Given the description of an element on the screen output the (x, y) to click on. 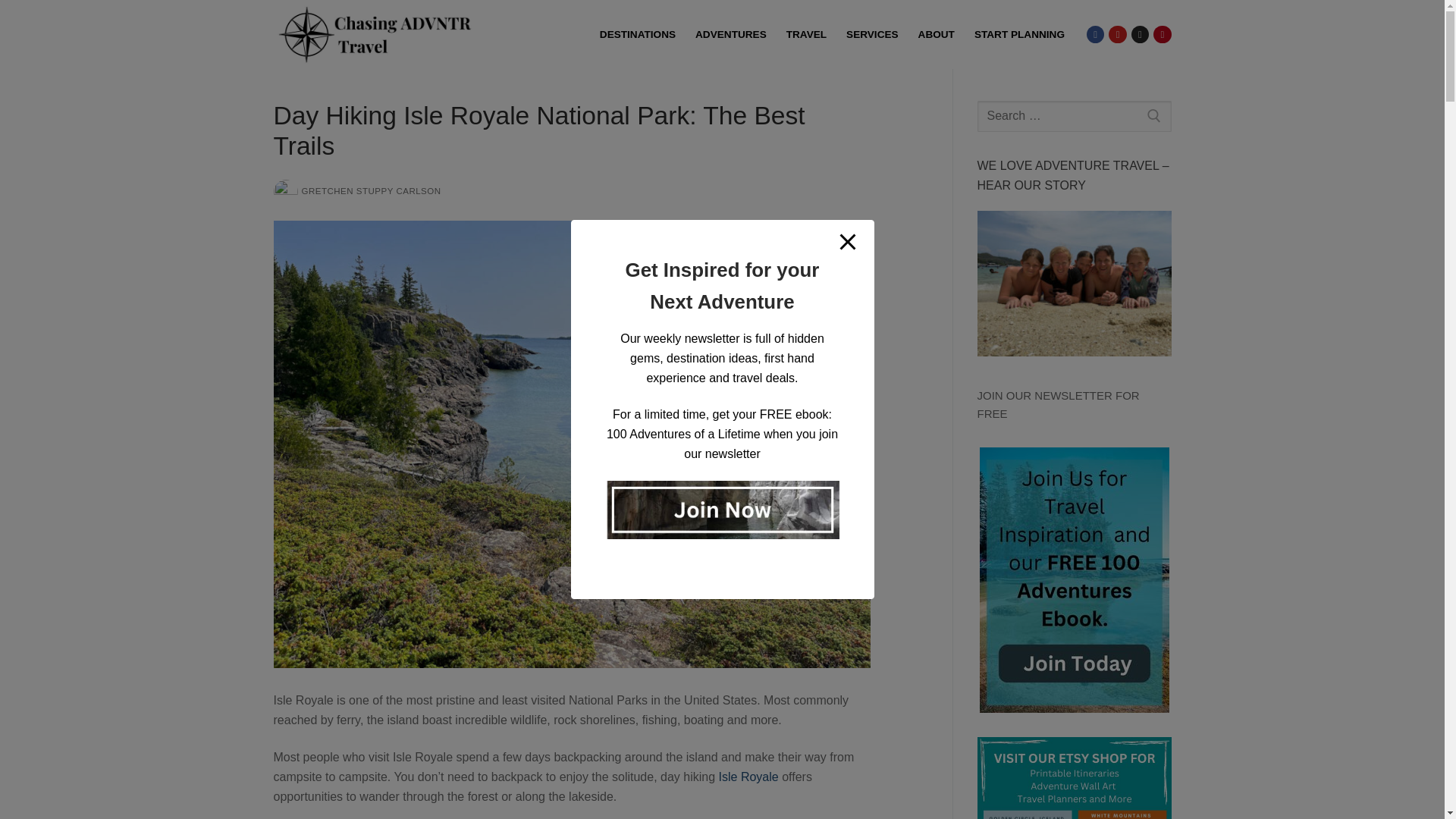
Instagram (1139, 34)
TRAVEL (805, 34)
Youtube (1117, 34)
Isle Royale (748, 776)
Facebook (1095, 34)
START PLANNING (1018, 34)
We Love Adventure Travel - Hear our Story (1073, 283)
Pinterest (1162, 34)
DESTINATIONS (637, 34)
GRETCHEN STUPPY CARLSON (357, 190)
ABOUT (935, 34)
SERVICES (871, 34)
ADVENTURES (730, 34)
Search for: (1073, 116)
